Given the description of an element on the screen output the (x, y) to click on. 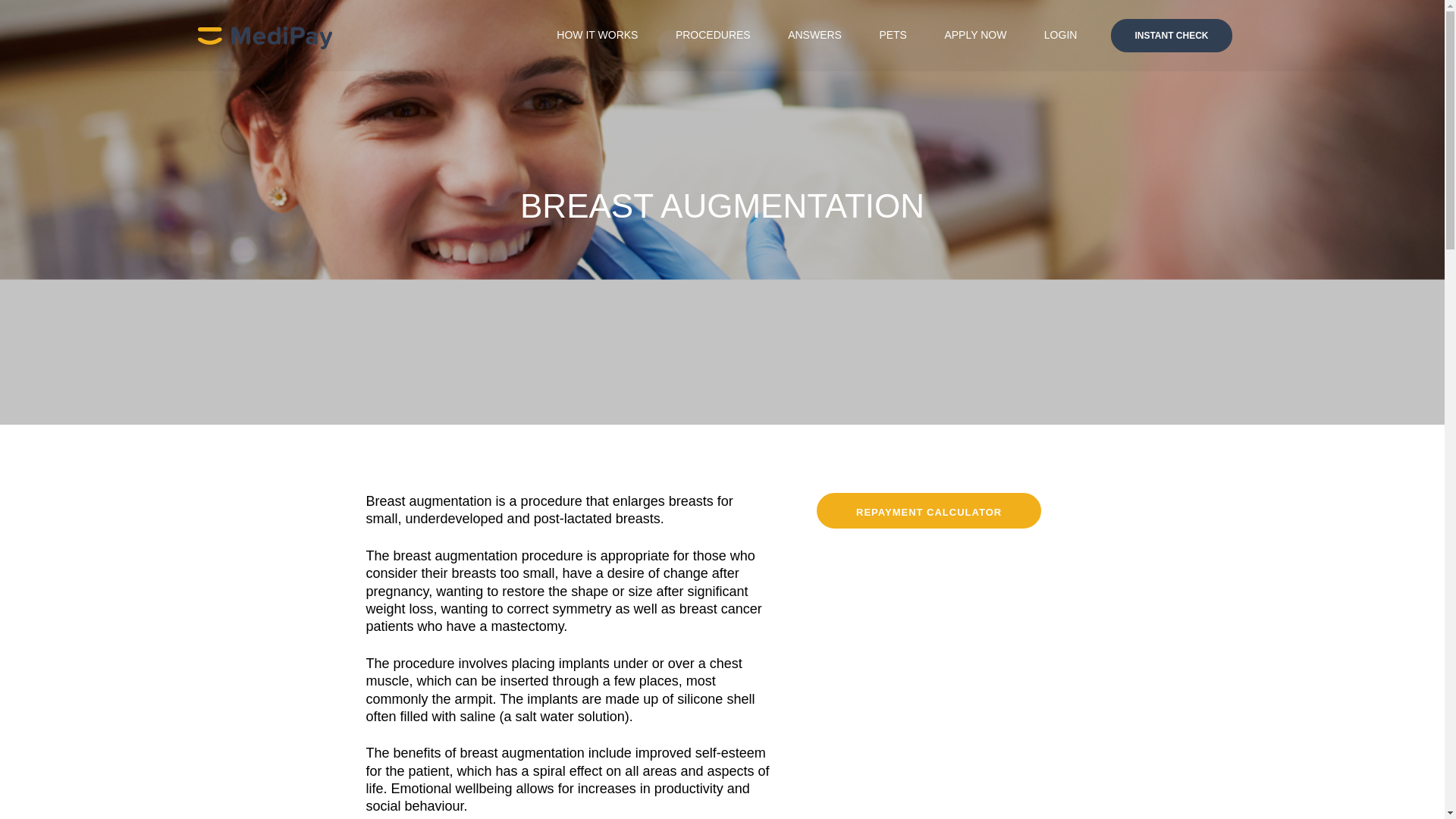
ANSWERS (814, 34)
REPAYMENT CALCULATOR (928, 510)
PROCEDURES (713, 34)
INSTANT CHECK (1170, 35)
APPLY NOW (974, 34)
HOW IT WORKS (596, 34)
MEDIPAY (263, 35)
LOGIN (1060, 34)
